Given the description of an element on the screen output the (x, y) to click on. 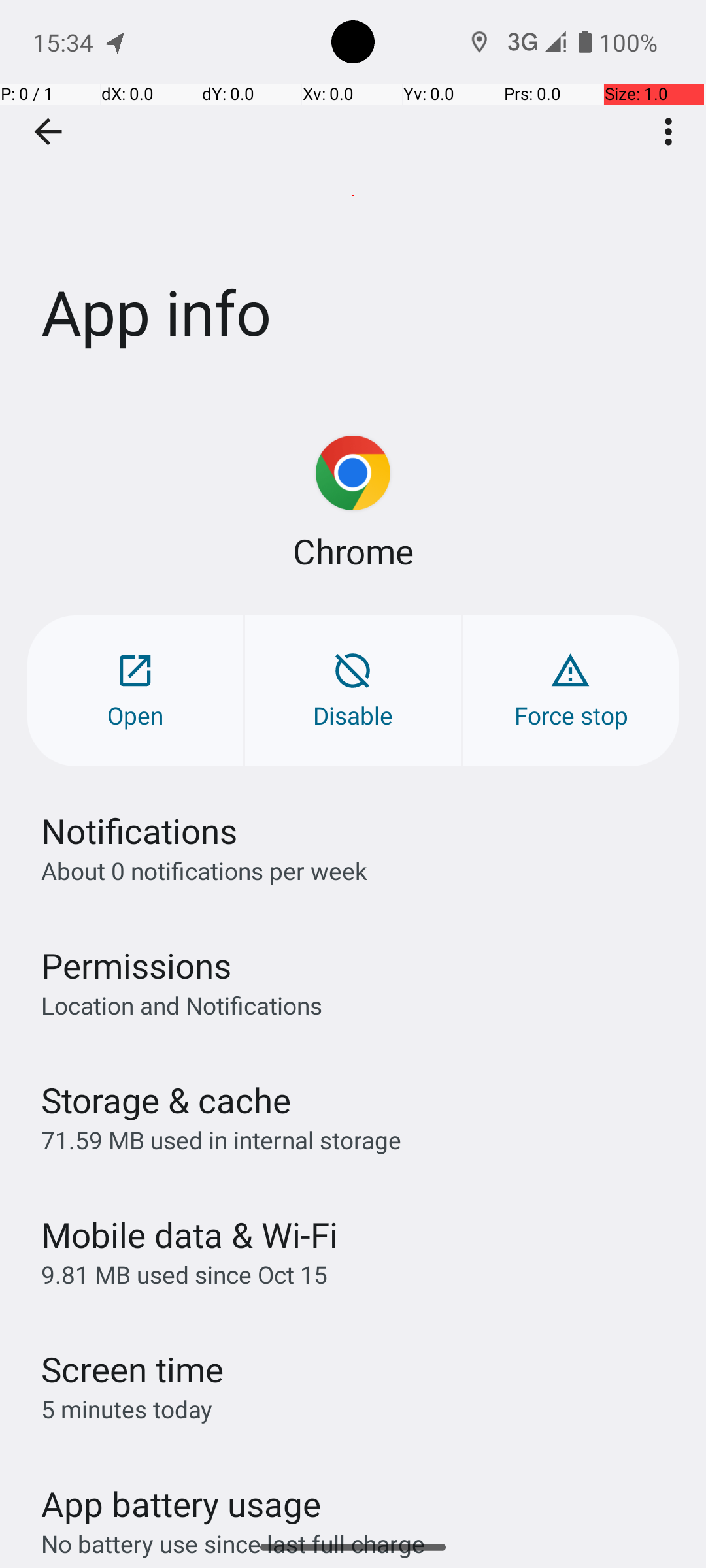
Disable Element type: android.widget.Button (352, 690)
About 0 notifications per week Element type: android.widget.TextView (204, 870)
Location and Notifications Element type: android.widget.TextView (181, 1004)
71.59 MB used in internal storage Element type: android.widget.TextView (221, 1139)
9.81 MB used since Oct 15 Element type: android.widget.TextView (184, 1273)
5 minutes today Element type: android.widget.TextView (127, 1408)
